Given the description of an element on the screen output the (x, y) to click on. 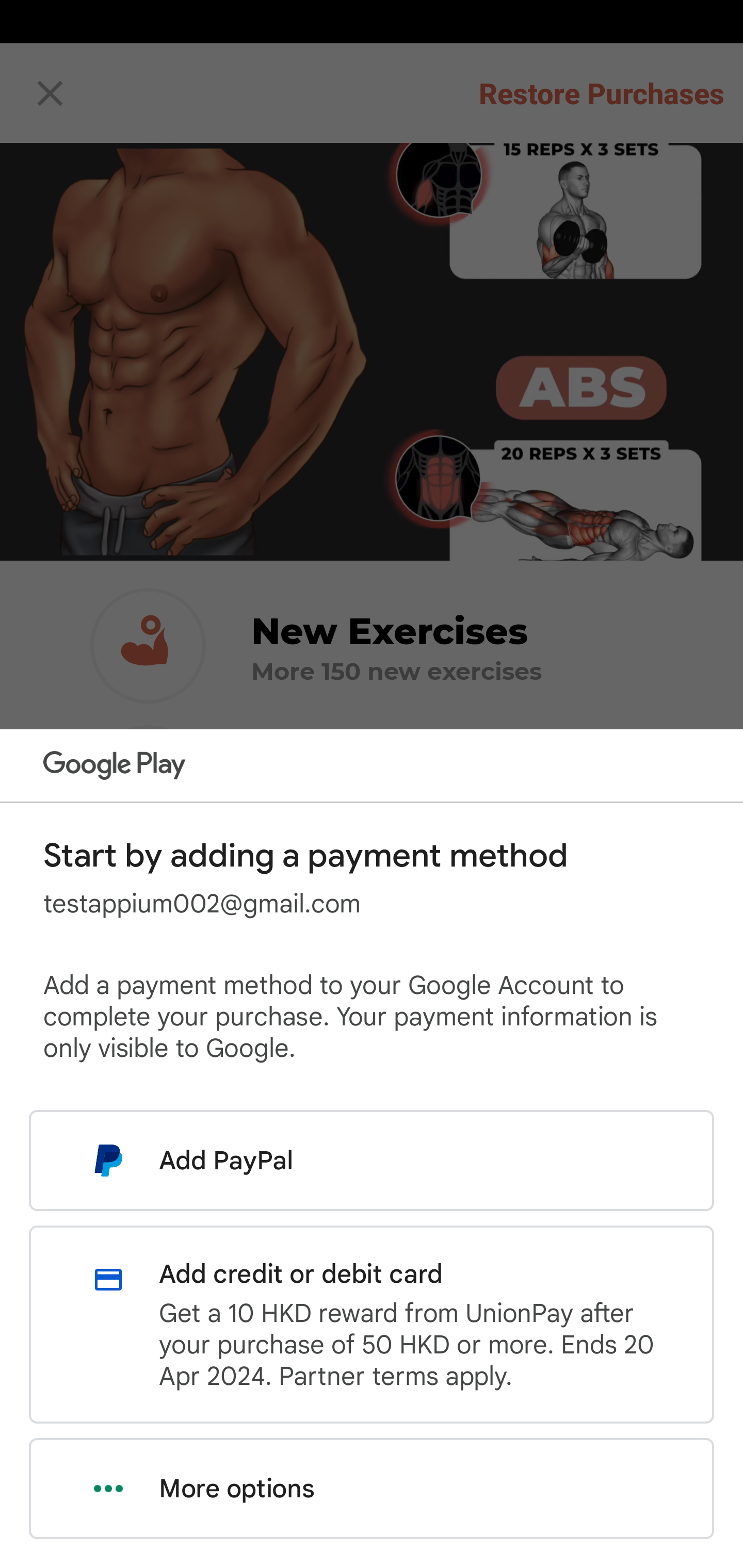
Add PayPal (371, 1160)
More options (371, 1488)
